Given the description of an element on the screen output the (x, y) to click on. 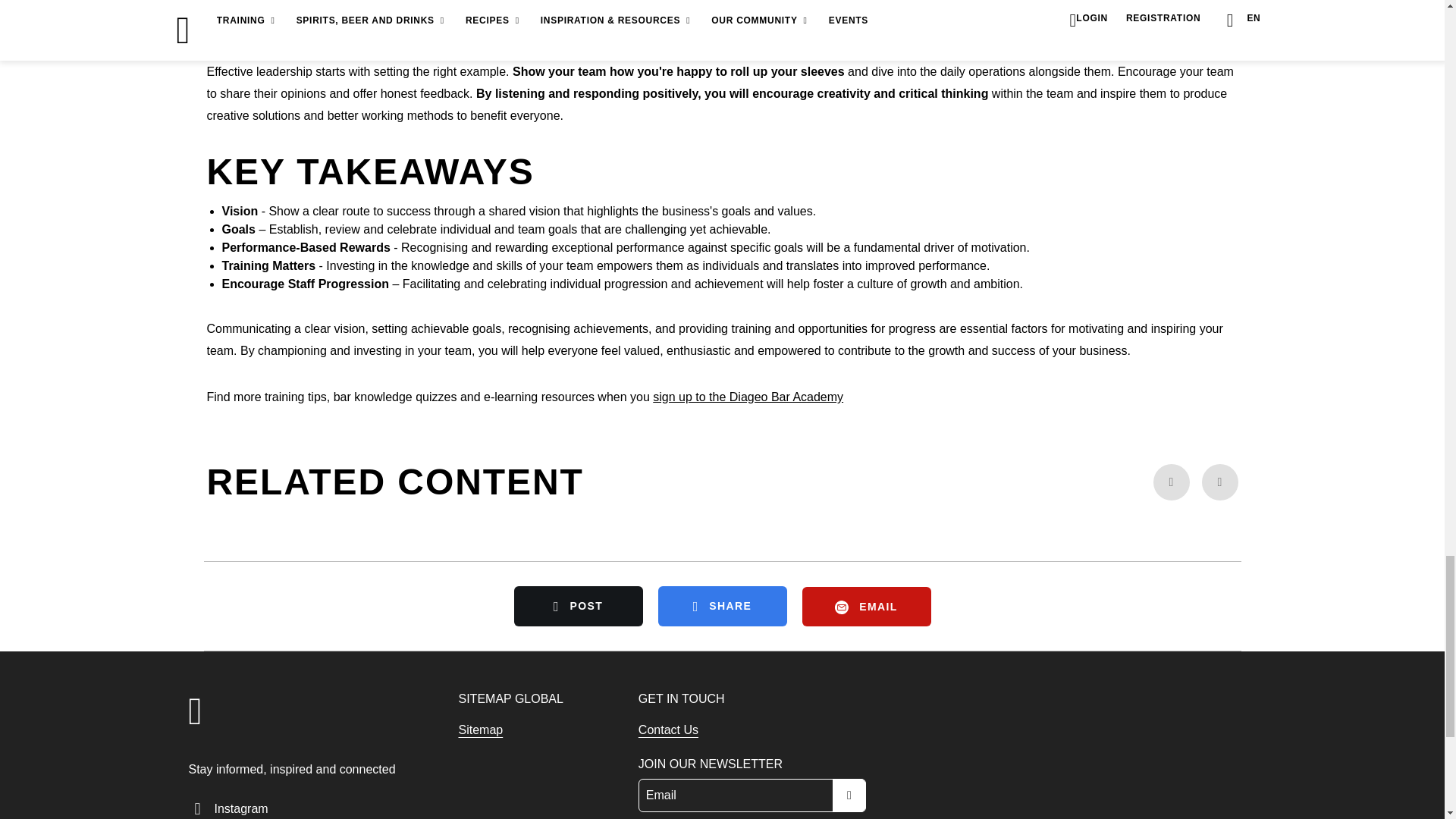
Registration (747, 396)
